Given the description of an element on the screen output the (x, y) to click on. 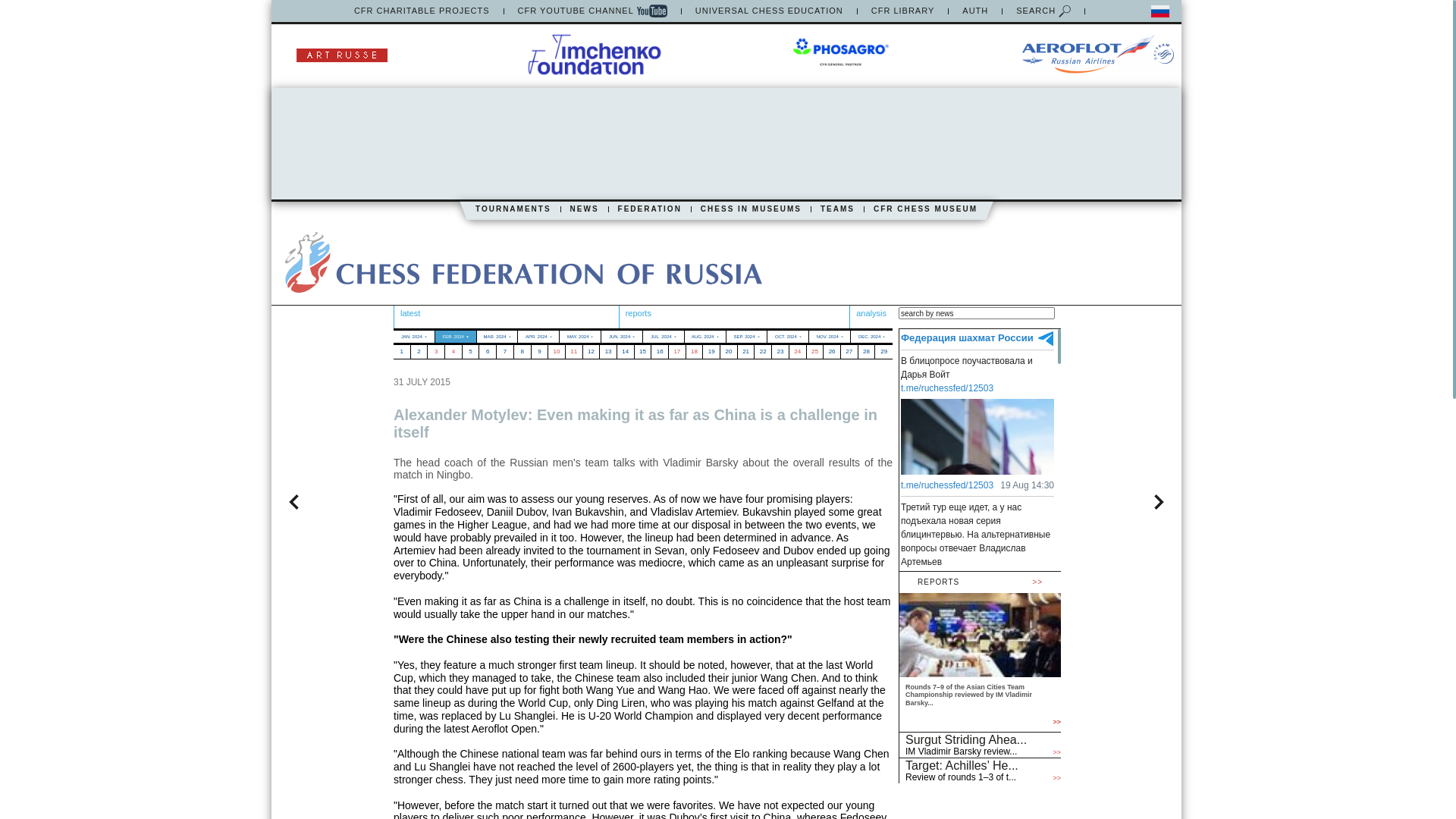
CFR CHARITABLE PROJECTS (421, 10)
CHESS IN MUSEUMS (751, 208)
CFR CHESS MUSEUM (924, 208)
TEAMS (837, 208)
CFR LIBRARY (902, 10)
AUTH (975, 10)
UNIVERSAL CHESS EDUCATION (769, 10)
JAN. 2024 (413, 336)
TOURNAMENTS (513, 208)
analysis (871, 312)
